Given the description of an element on the screen output the (x, y) to click on. 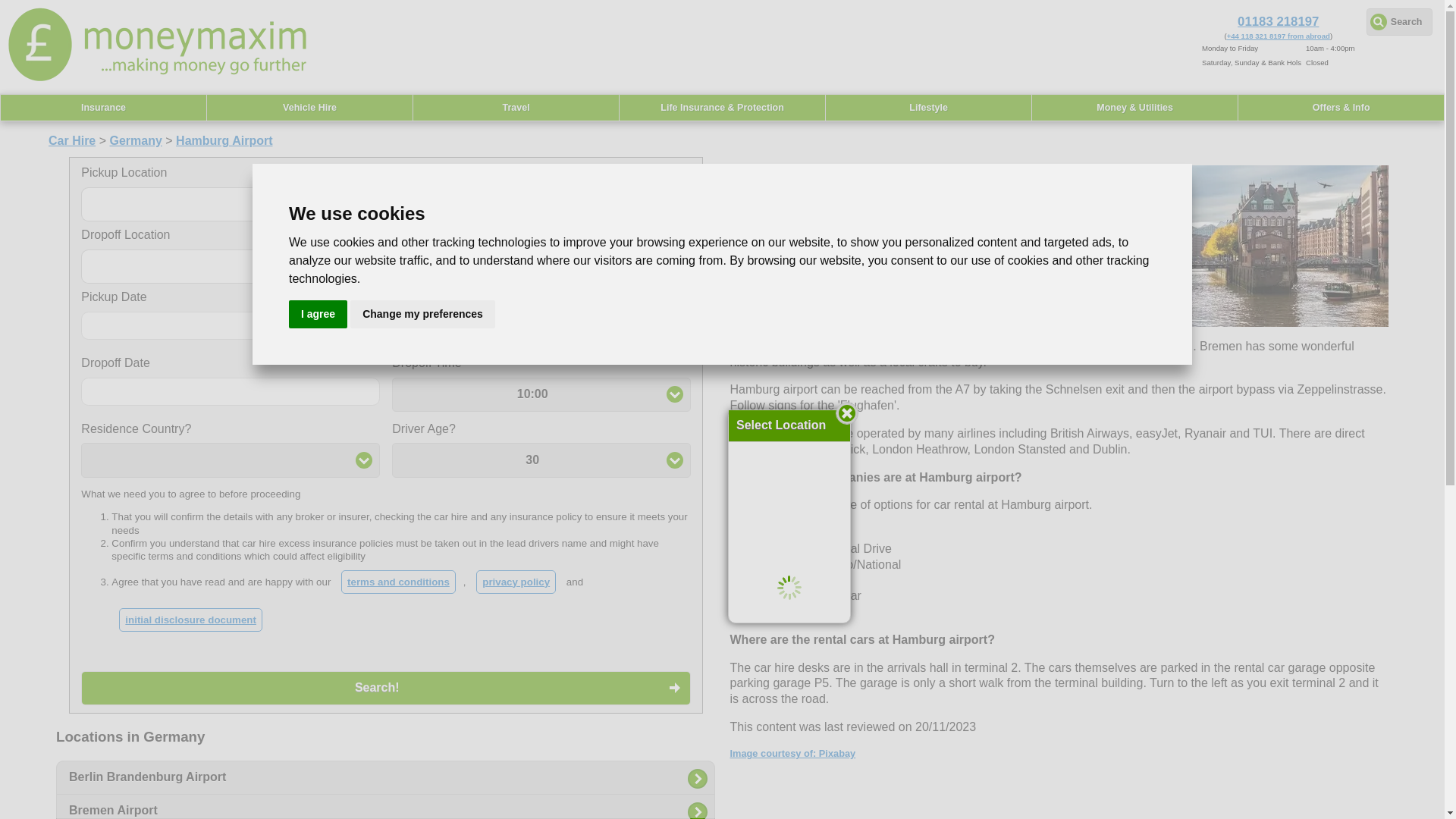
Change my preferences (422, 314)
Search! (385, 687)
I agree (317, 314)
